Given the description of an element on the screen output the (x, y) to click on. 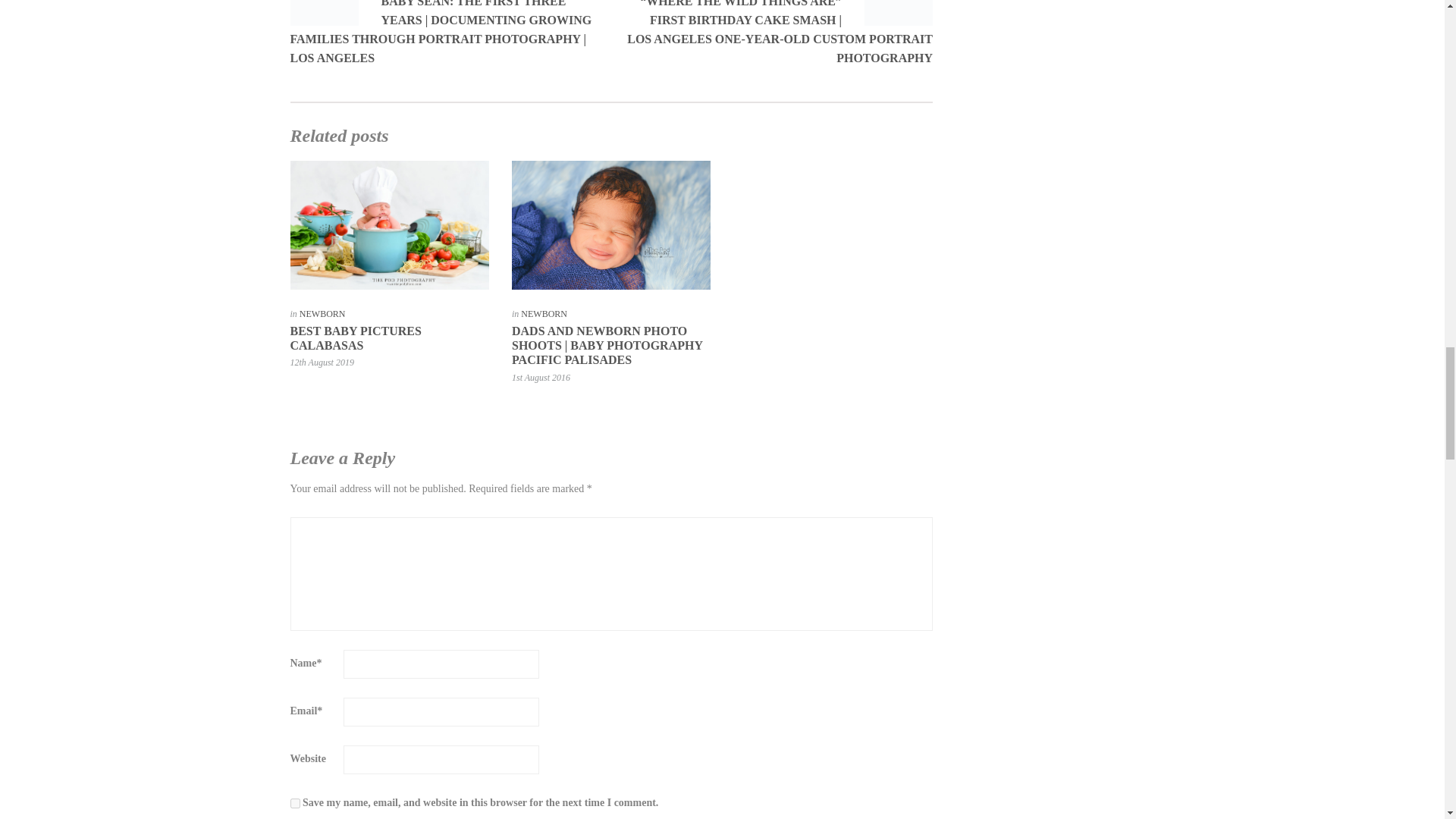
yes (294, 803)
